Given the description of an element on the screen output the (x, y) to click on. 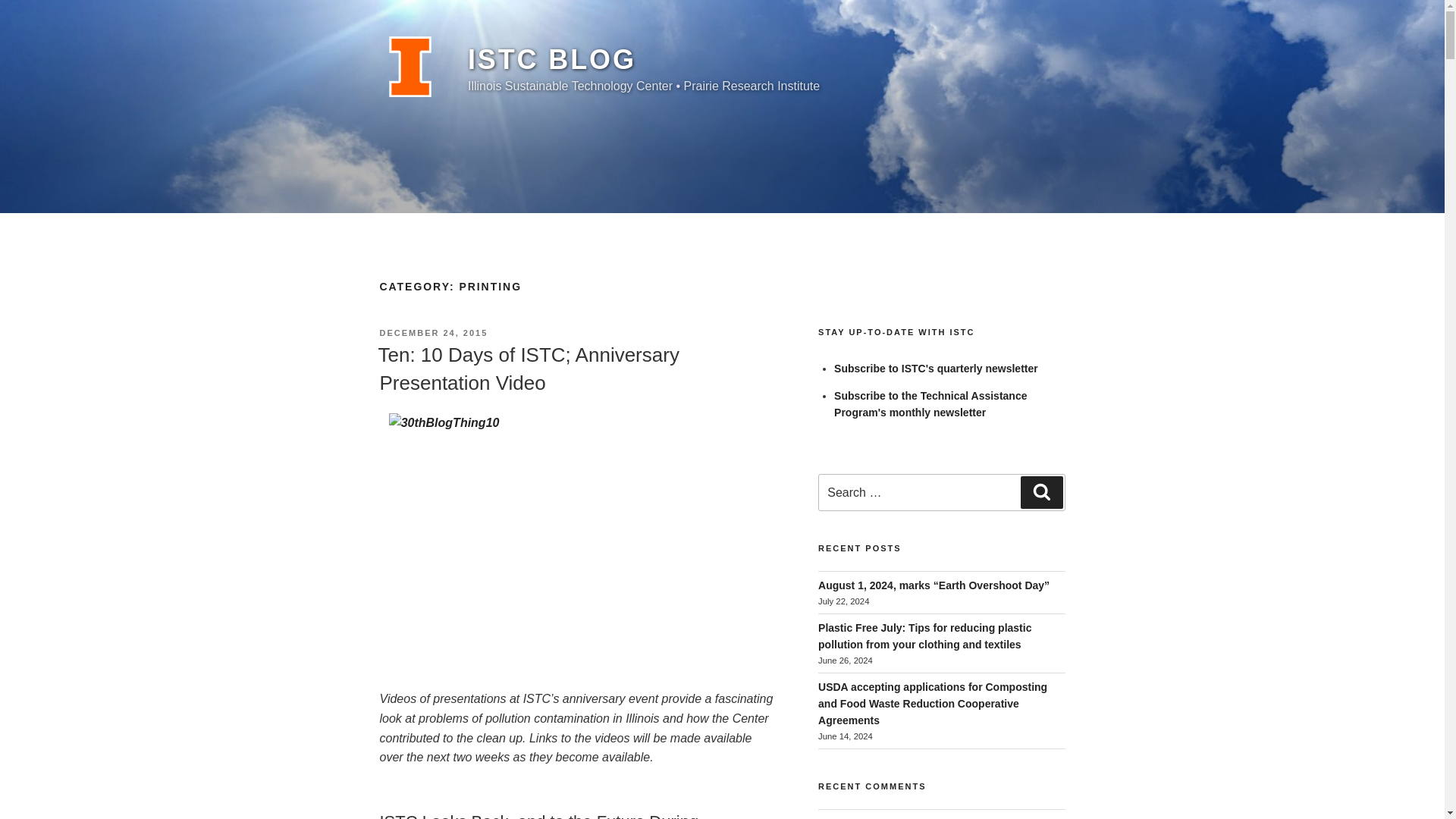
ISTC BLOG (551, 59)
Ten: 10 Days of ISTC; Anniversary Presentation Video (527, 368)
DECEMBER 24, 2015 (432, 332)
